Given the description of an element on the screen output the (x, y) to click on. 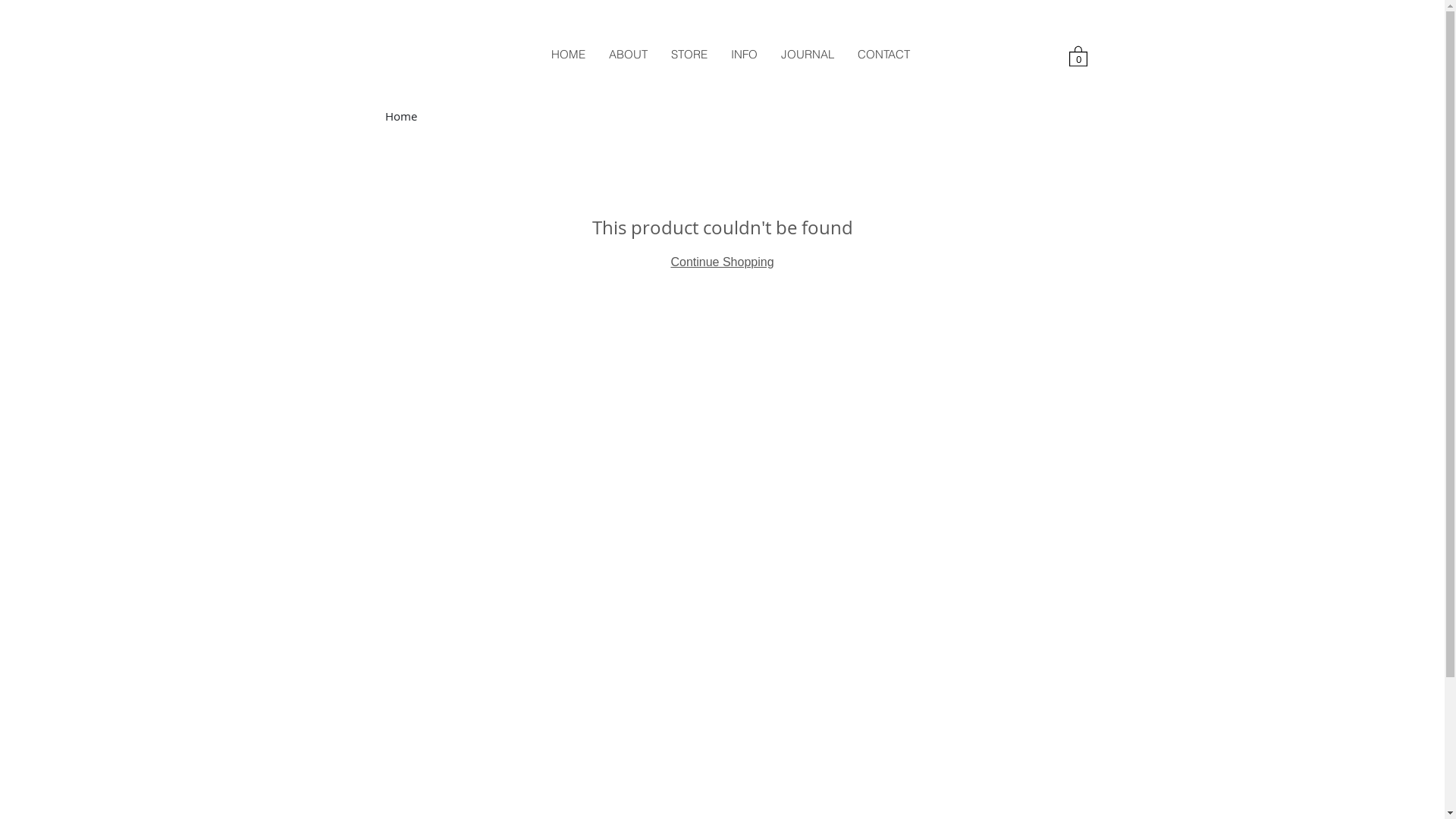
Home Element type: text (401, 115)
INFO Element type: text (743, 54)
JOURNAL Element type: text (806, 54)
0 Element type: text (1078, 55)
HOME Element type: text (567, 54)
STORE Element type: text (688, 54)
Continue Shopping Element type: text (721, 261)
ABOUT Element type: text (627, 54)
CONTACT Element type: text (883, 54)
